Given the description of an element on the screen output the (x, y) to click on. 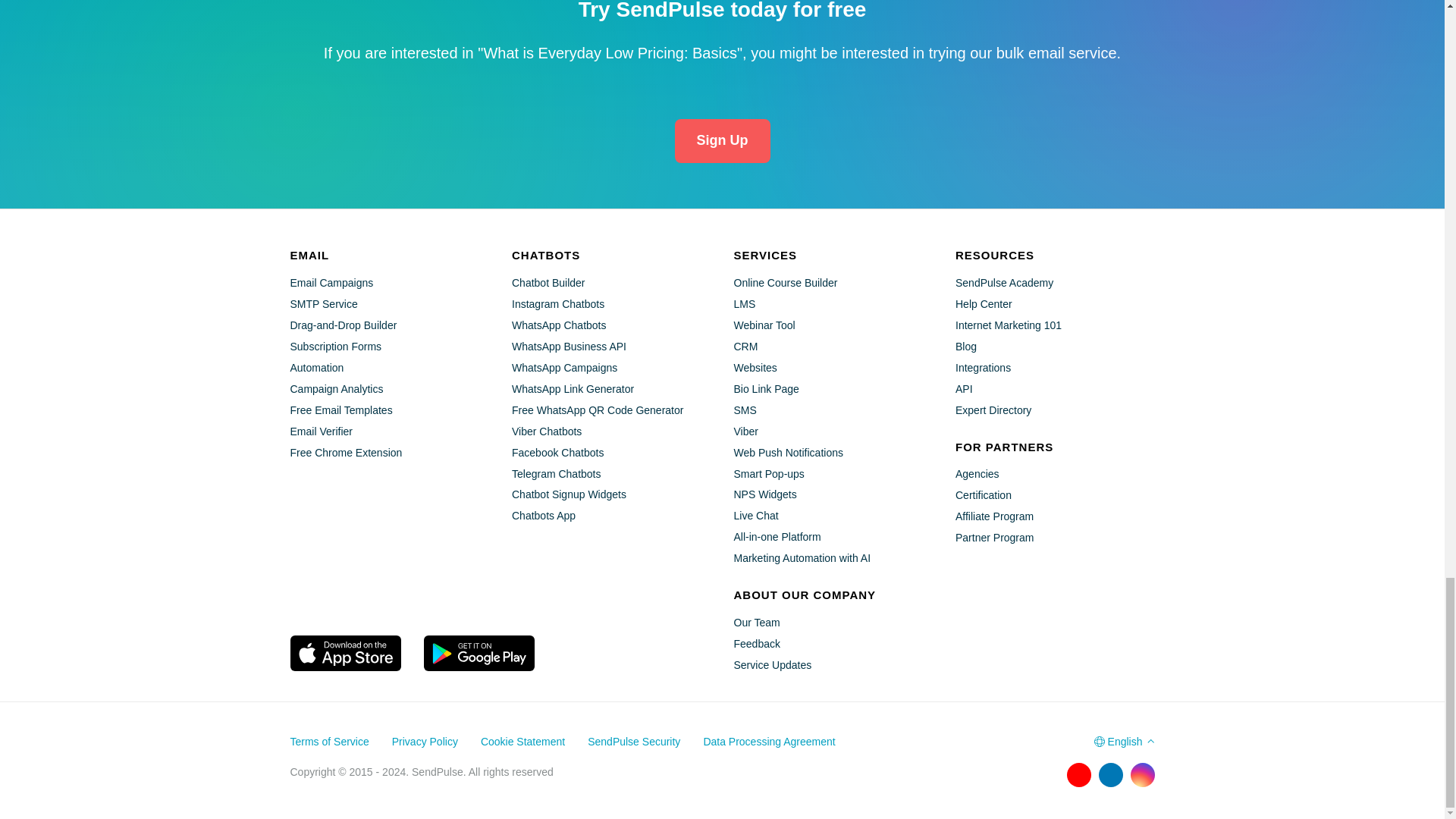
Follow us on Instagram (1141, 774)
Connect with us on LinkedIn (1109, 774)
Join us on Facebook (1014, 774)
Watch us on YouTube (1077, 774)
Follow us on Twitter (1045, 774)
